Given the description of an element on the screen output the (x, y) to click on. 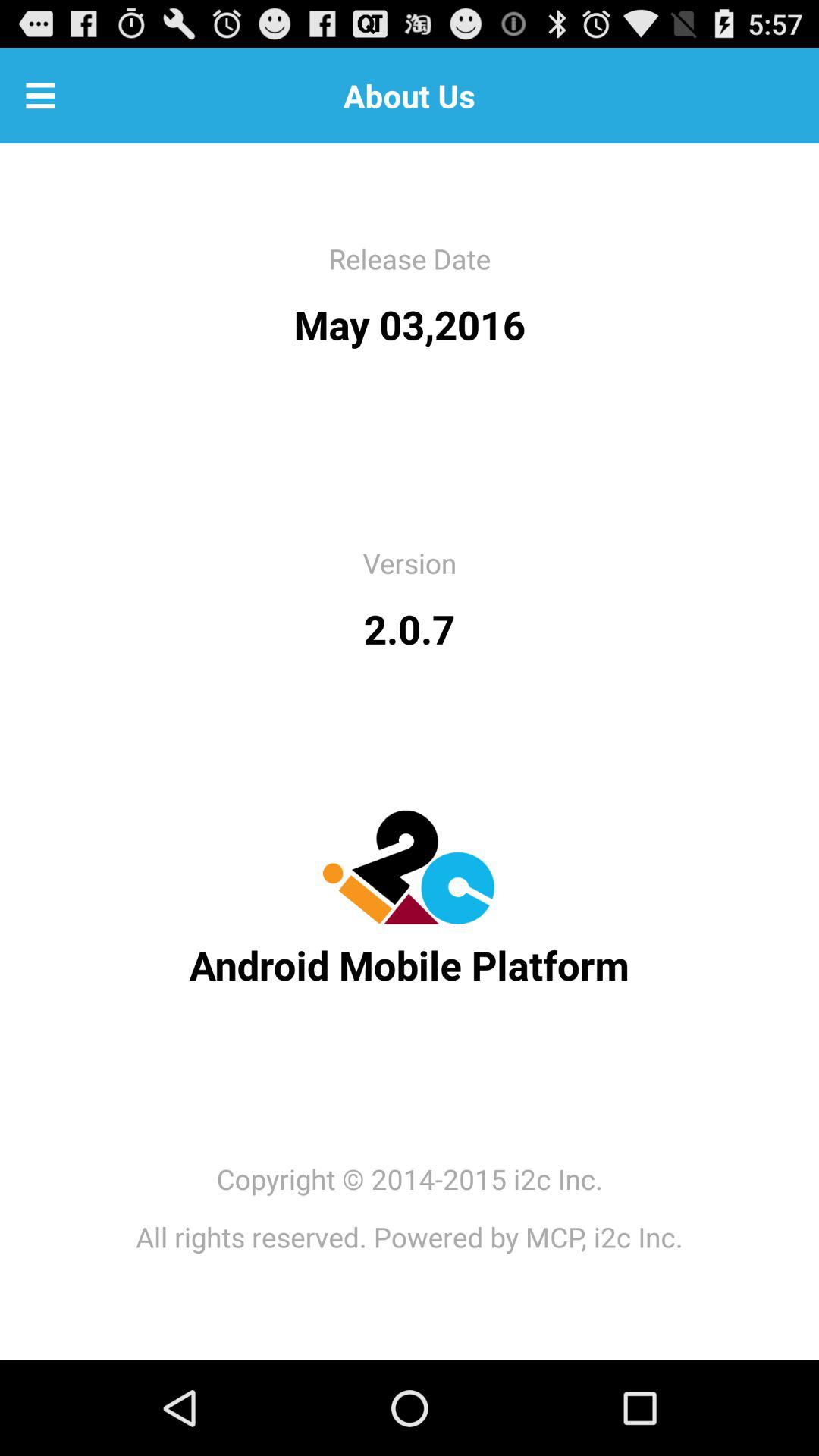
turn off the item at the top left corner (39, 95)
